Given the description of an element on the screen output the (x, y) to click on. 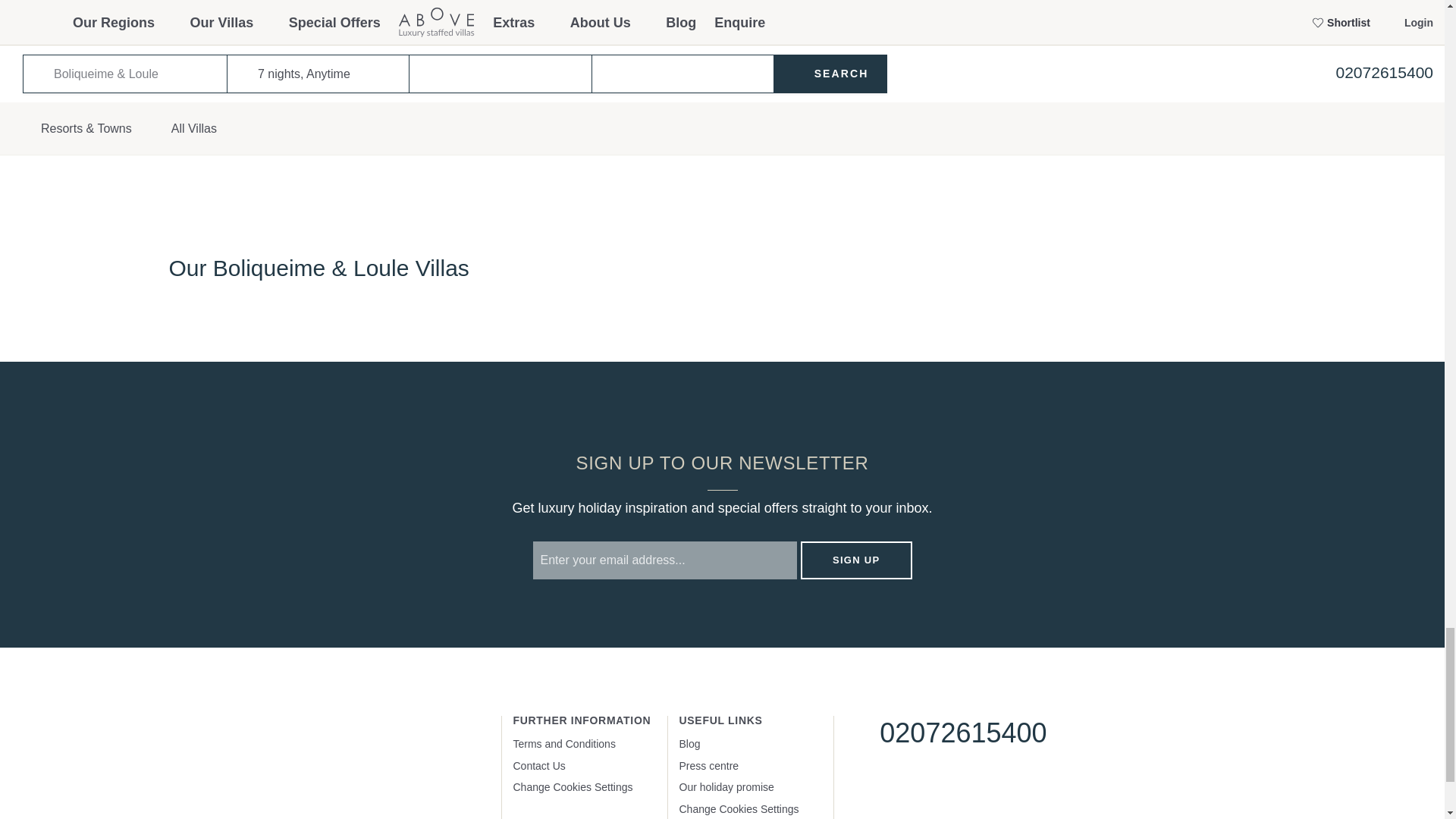
Pinterest (981, 787)
Instagram (1027, 787)
Facebook (890, 787)
Twitter (935, 787)
